Given the description of an element on the screen output the (x, y) to click on. 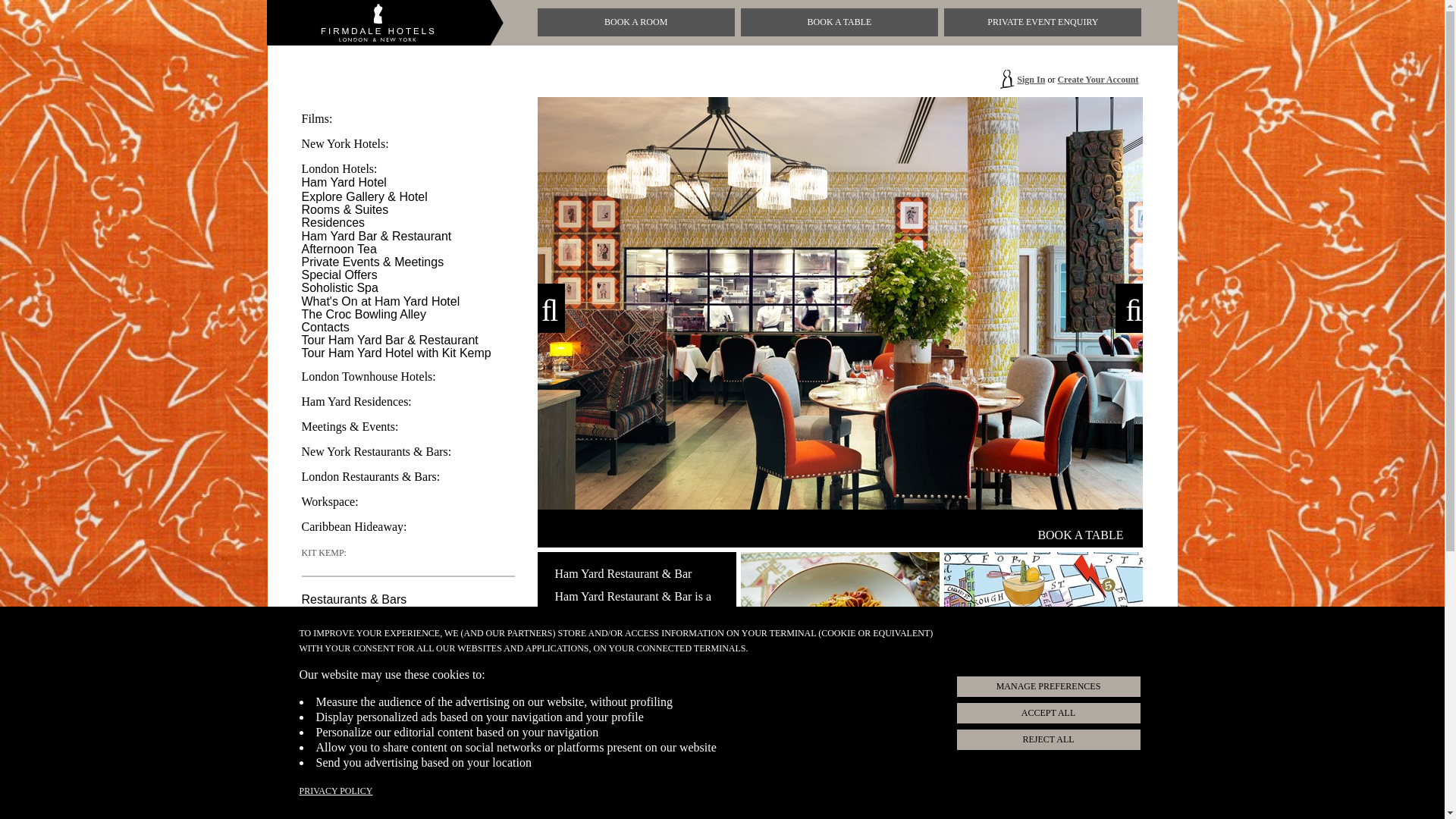
London Hotels: (363, 314)
ACCEPT ALL (350, 169)
Films: (380, 300)
Ham Yard Hotel (1047, 712)
REJECT ALL (339, 274)
PRIVACY POLICY (328, 119)
London Townhouse Hotels: (344, 182)
